Given the description of an element on the screen output the (x, y) to click on. 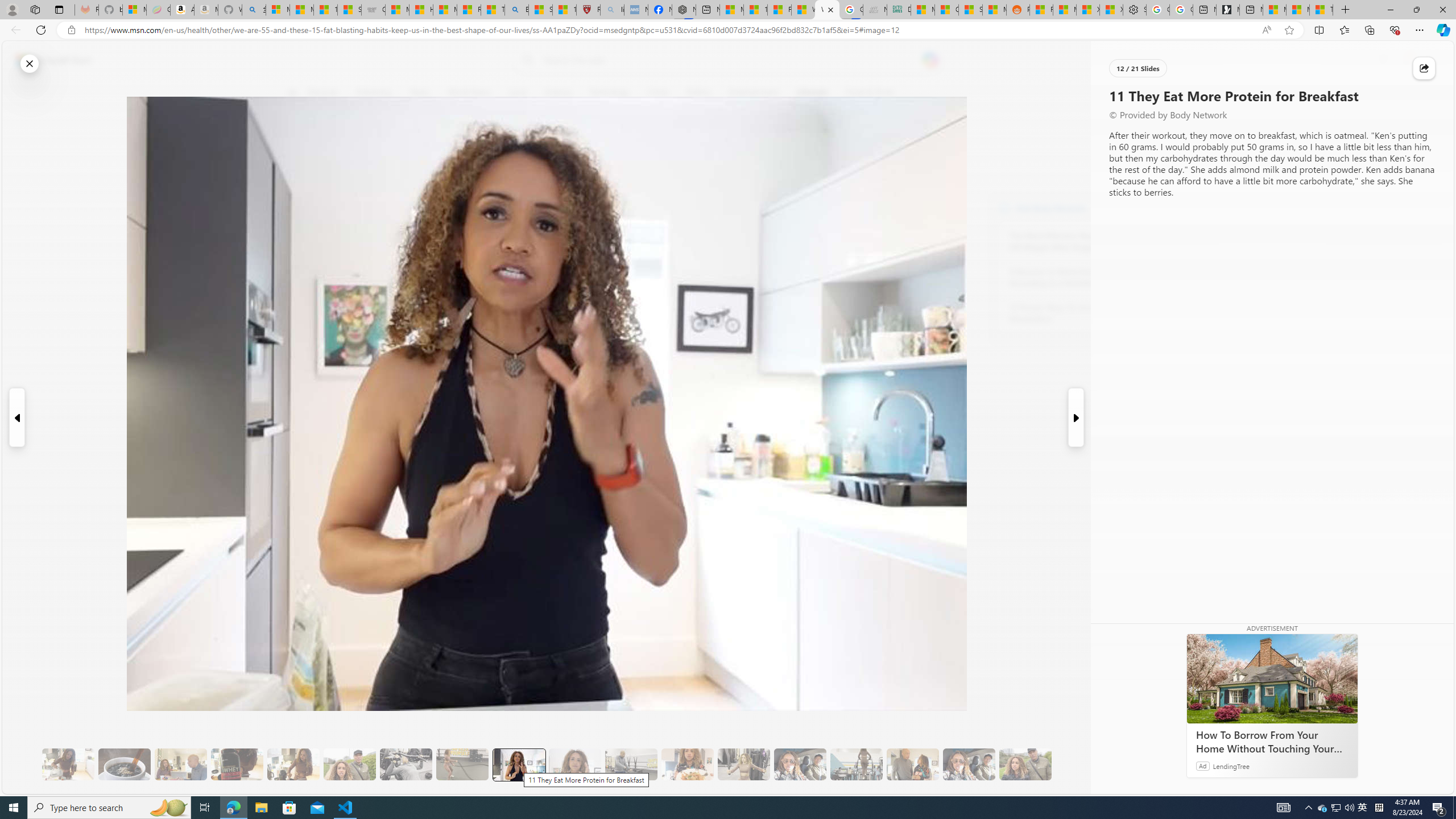
19 It Also Simplifies Thiings (968, 764)
7 They Don't Skip Meals (293, 764)
Body Network (1004, 207)
